Given the description of an element on the screen output the (x, y) to click on. 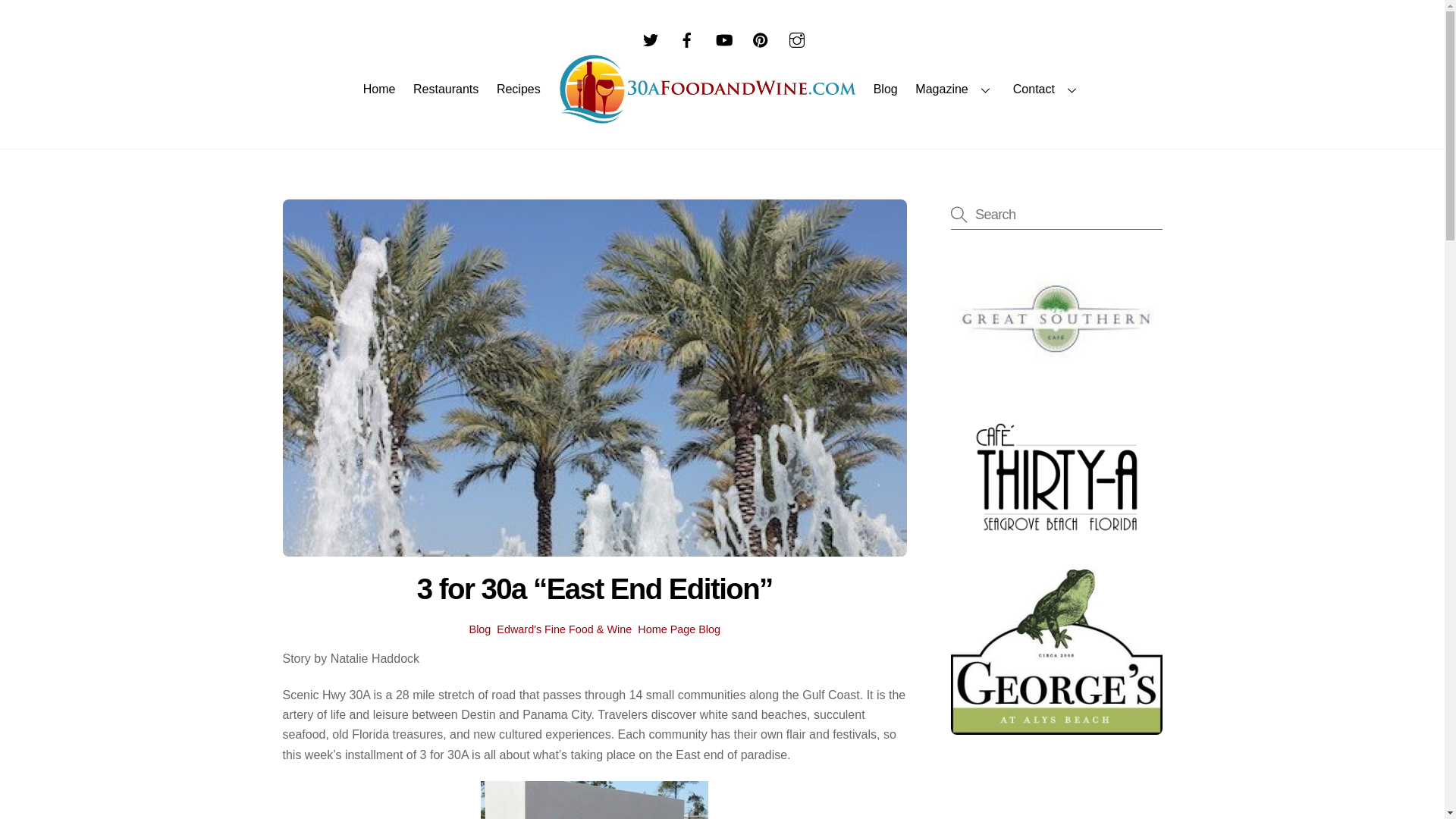
Recipes (518, 89)
georgeLOGO (1055, 651)
Magazine (955, 89)
LOGO cafe thirty a (1055, 476)
GSC LOGO (1055, 320)
Home (379, 89)
Blog (480, 629)
Blog (885, 89)
Search (1055, 213)
Home Page Blog (678, 629)
Restaurants (445, 89)
Contact (1047, 89)
